Given the description of an element on the screen output the (x, y) to click on. 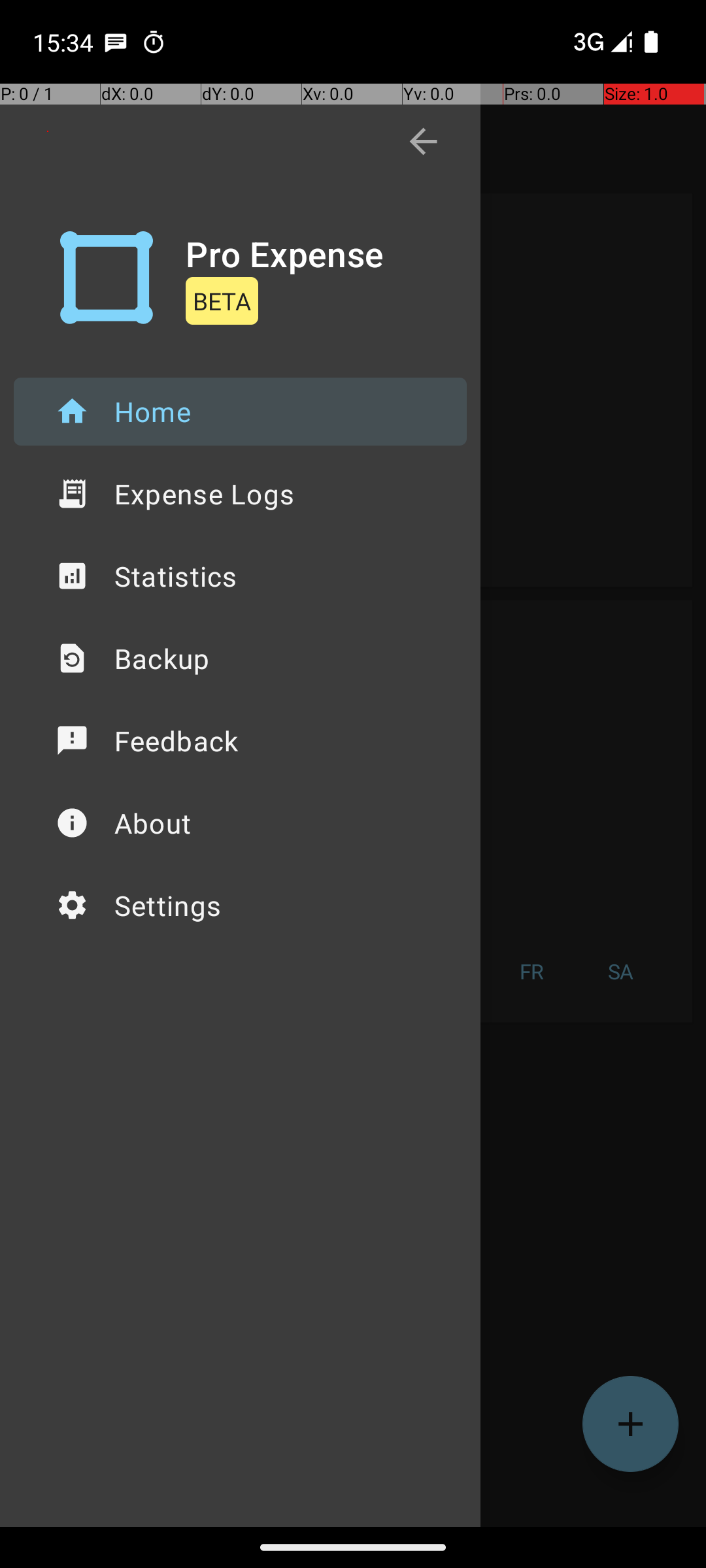
SMS Messenger notification: Amir dos Santos Element type: android.widget.ImageView (115, 41)
